Given the description of an element on the screen output the (x, y) to click on. 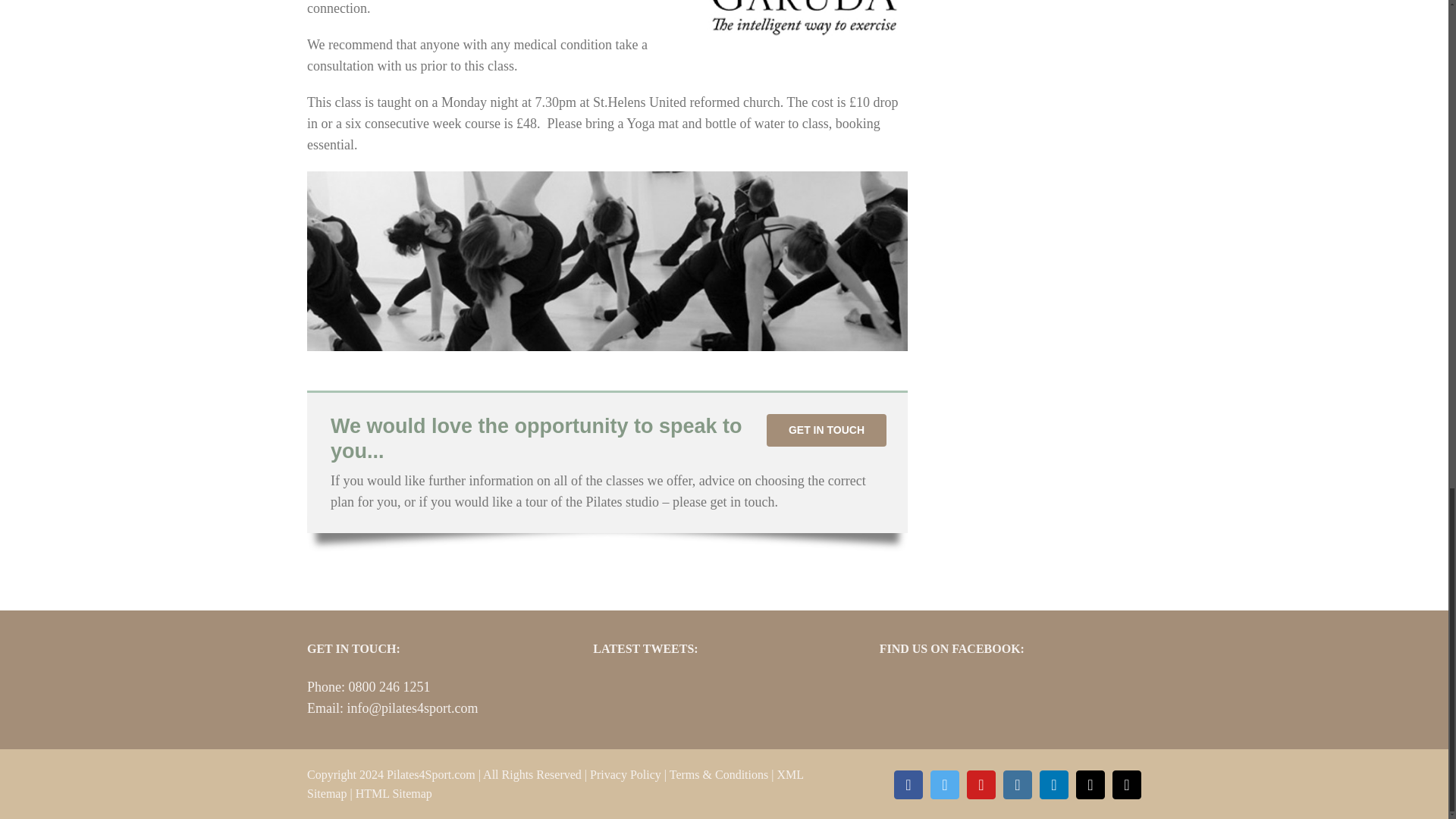
Facebook (908, 784)
Email (1090, 784)
Twitter (944, 784)
YouTube (980, 784)
Instagram (1017, 784)
Tiktok (1126, 784)
LinkedIn (1053, 784)
